Given the description of an element on the screen output the (x, y) to click on. 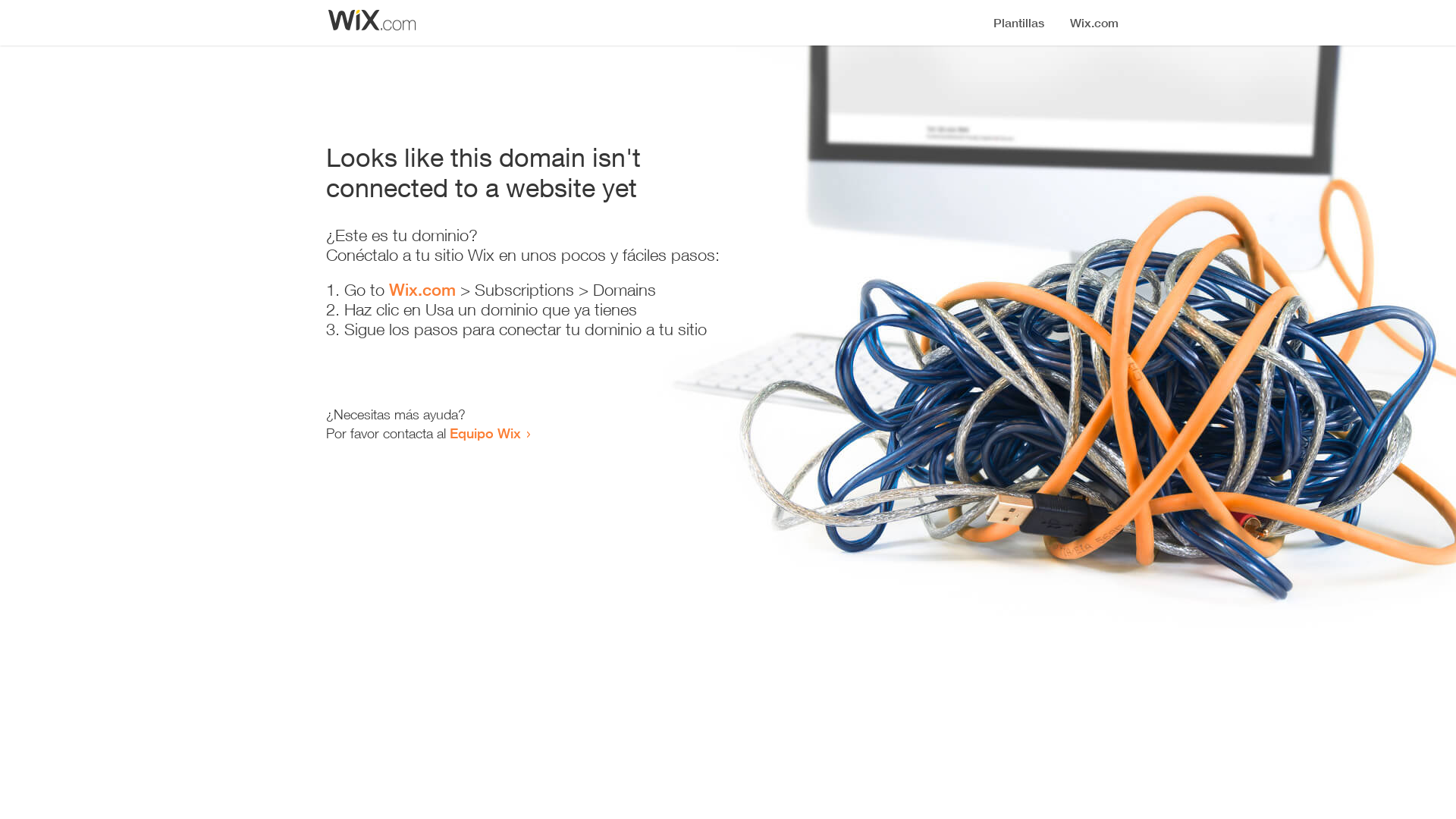
Equipo Wix Element type: text (484, 432)
Wix.com Element type: text (422, 289)
